Given the description of an element on the screen output the (x, y) to click on. 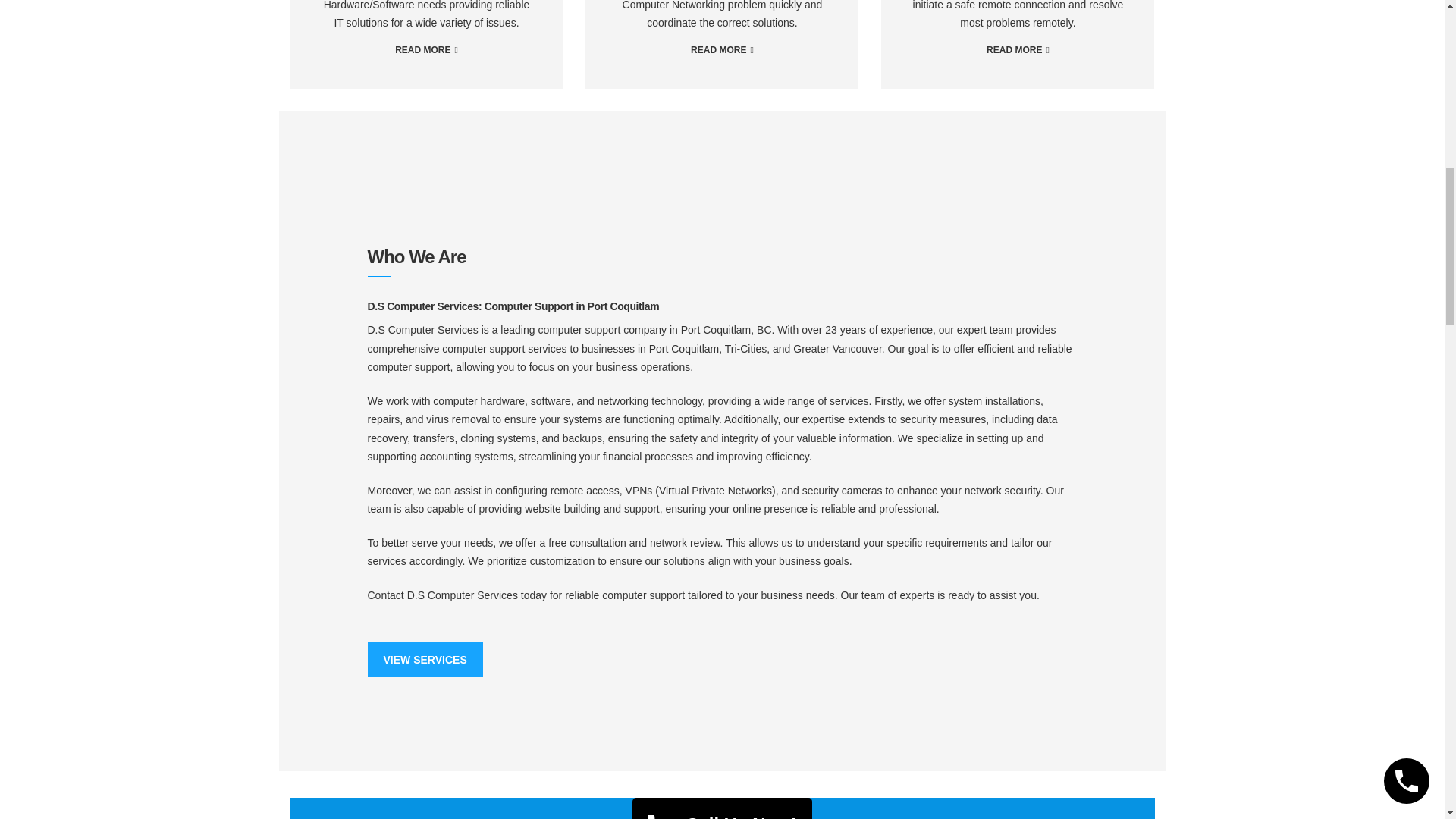
READ MORE (1018, 50)
VIEW SERVICES (423, 659)
Call Us Now! (721, 808)
READ MORE (426, 50)
READ MORE (722, 50)
